Given the description of an element on the screen output the (x, y) to click on. 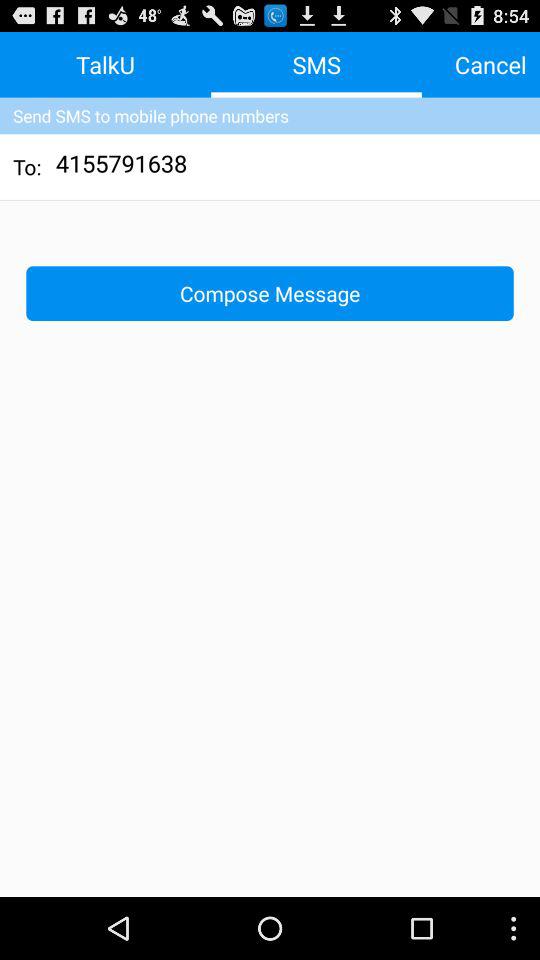
launch the item to the right of the to: icon (122, 166)
